Given the description of an element on the screen output the (x, y) to click on. 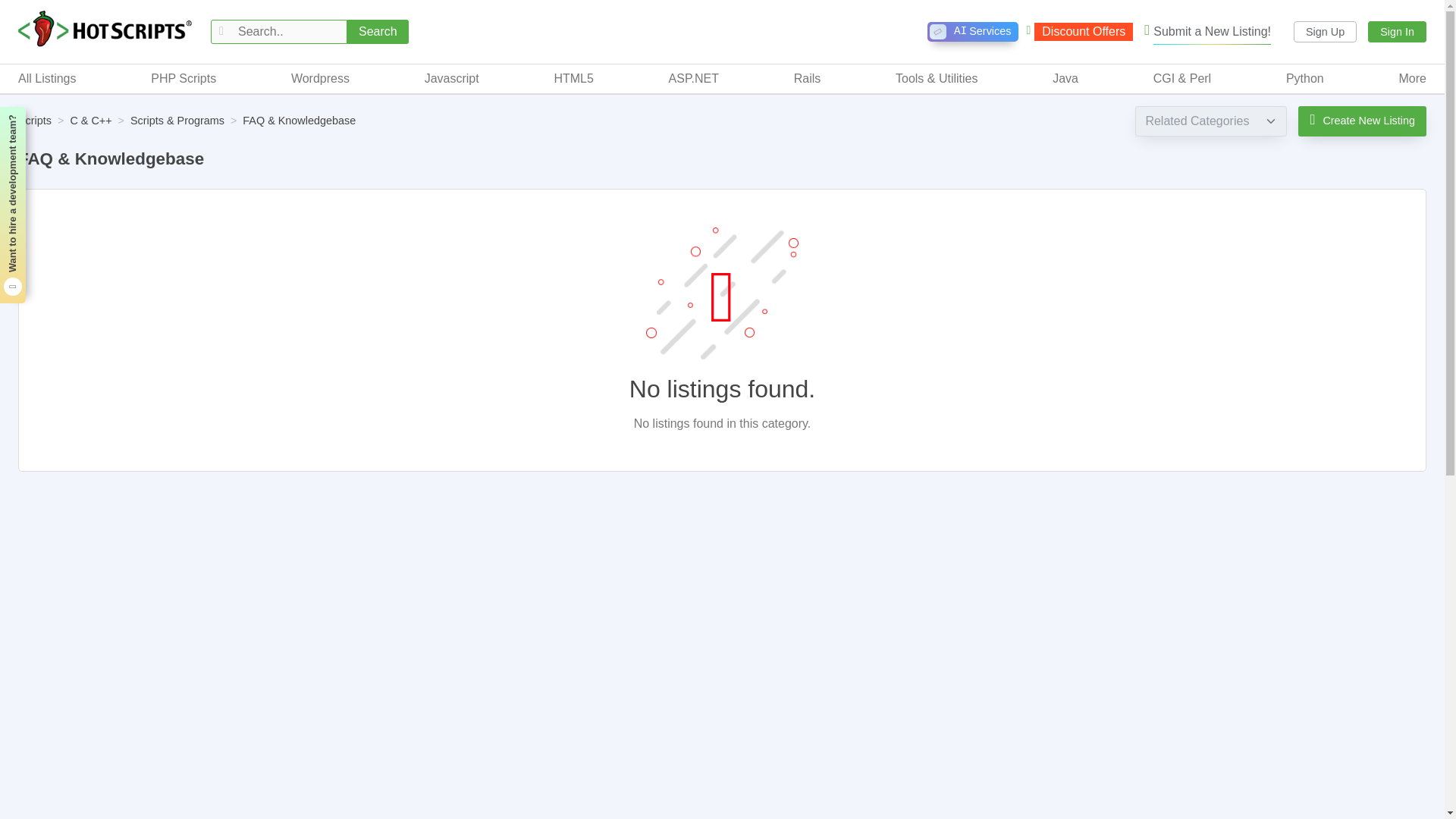
Search (378, 31)
All Listings (46, 78)
Discount Offers (1079, 31)
Sign In (1397, 31)
PHP Scripts (183, 78)
Sign Up (972, 31)
Submit a New Listing! (1325, 31)
HotScripts (1207, 31)
